Given the description of an element on the screen output the (x, y) to click on. 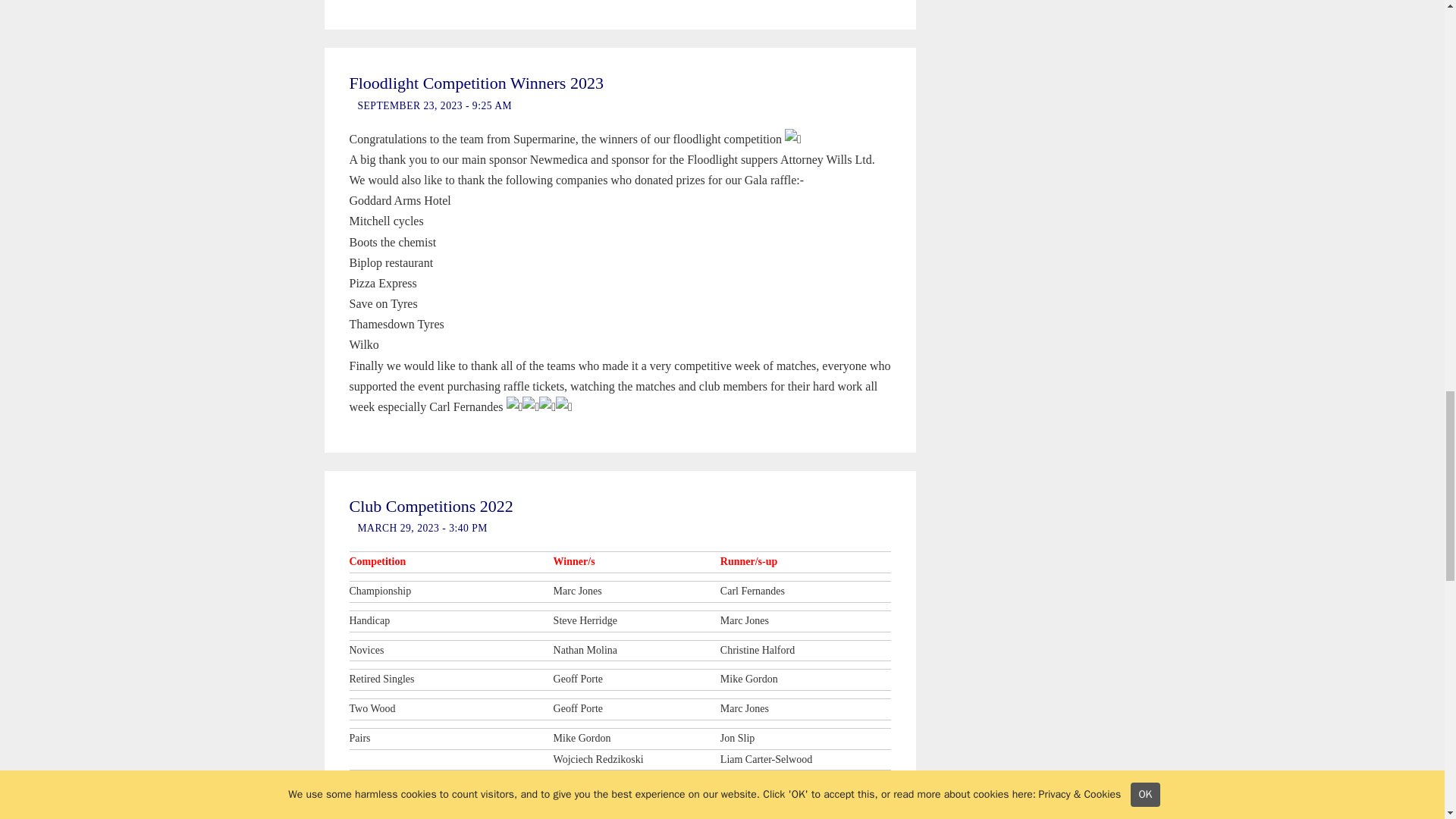
Permalink to Floodlight Competition Winners 2023 (475, 82)
Permalink to Club Competitions 2022 (430, 505)
